Given the description of an element on the screen output the (x, y) to click on. 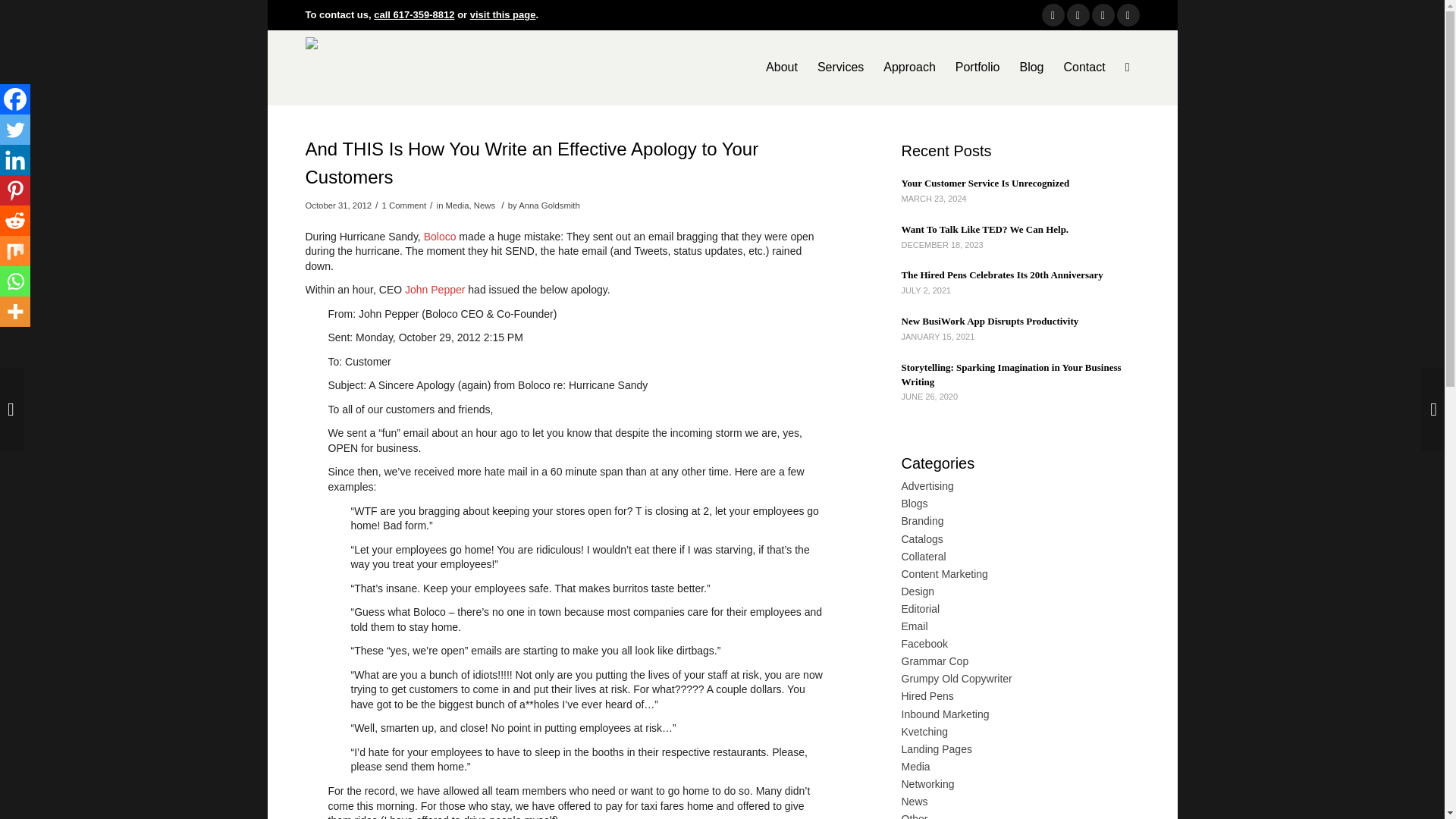
Mix (15, 250)
1 Comment (403, 204)
Linkedin (15, 159)
Posts by Anna Goldsmith (548, 204)
News (484, 204)
Twitter (15, 129)
Pinterest (15, 190)
More (15, 311)
